Given the description of an element on the screen output the (x, y) to click on. 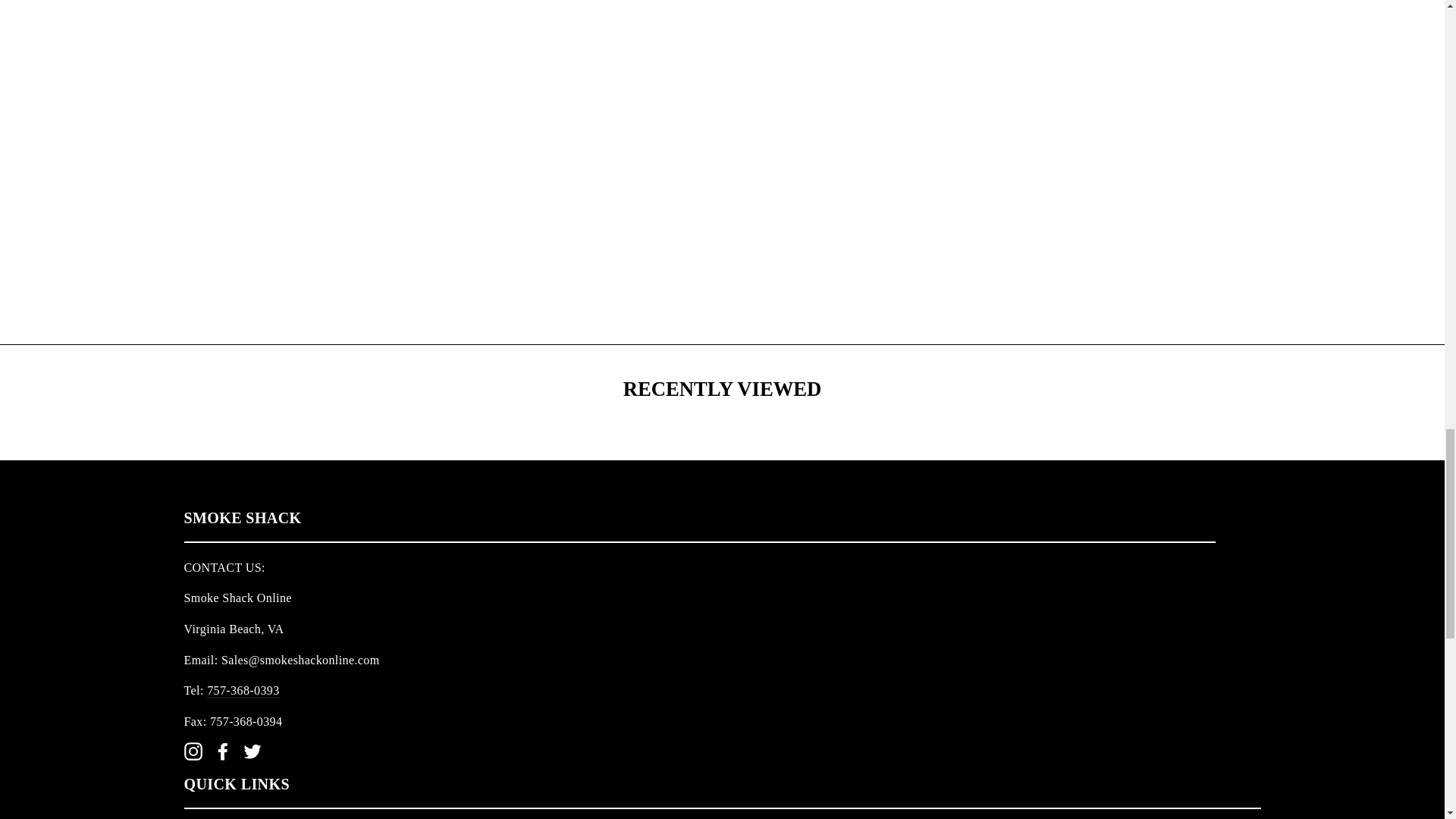
SmokeShackOnline on Instagram (192, 751)
SmokeShackOnline on Facebook (222, 751)
SmokeShackOnline on Twitter (251, 751)
